Given the description of an element on the screen output the (x, y) to click on. 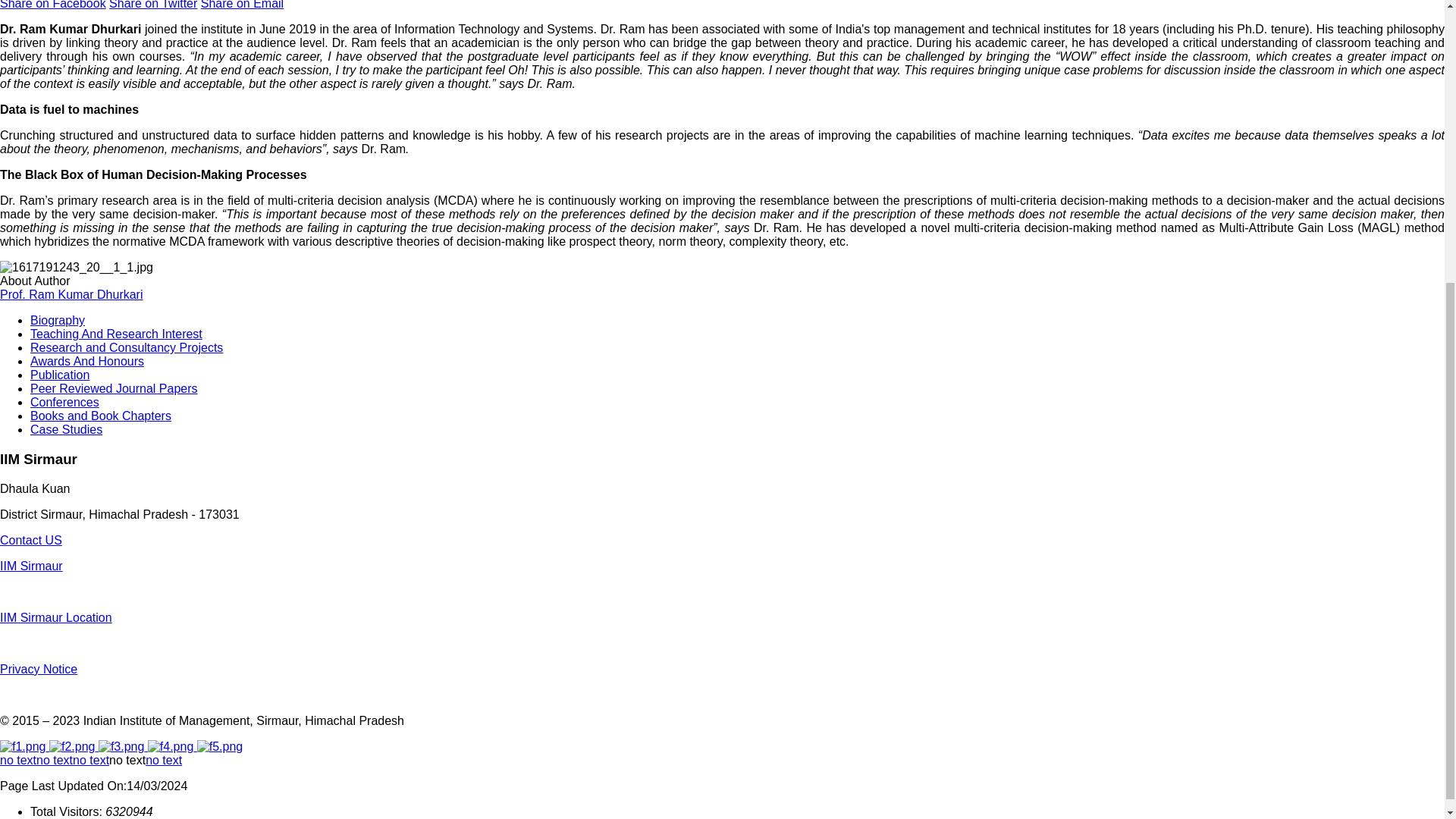
Share on Twitter (152, 4)
Biography (57, 319)
IIM Sirmaur Location (56, 617)
Research and Consultancy Projects (126, 347)
Share on Facebook (53, 4)
Teaching And Research Interest (116, 333)
Privacy Notice (38, 668)
Case Studies (65, 429)
Prof. Ram Kumar Dhurkari (71, 294)
Publication (59, 374)
Awards And Honours (87, 360)
Peer Reviewed Journal Papers (114, 388)
Share on Email (241, 4)
IIM Sirmaur (31, 565)
Conferences (64, 401)
